Given the description of an element on the screen output the (x, y) to click on. 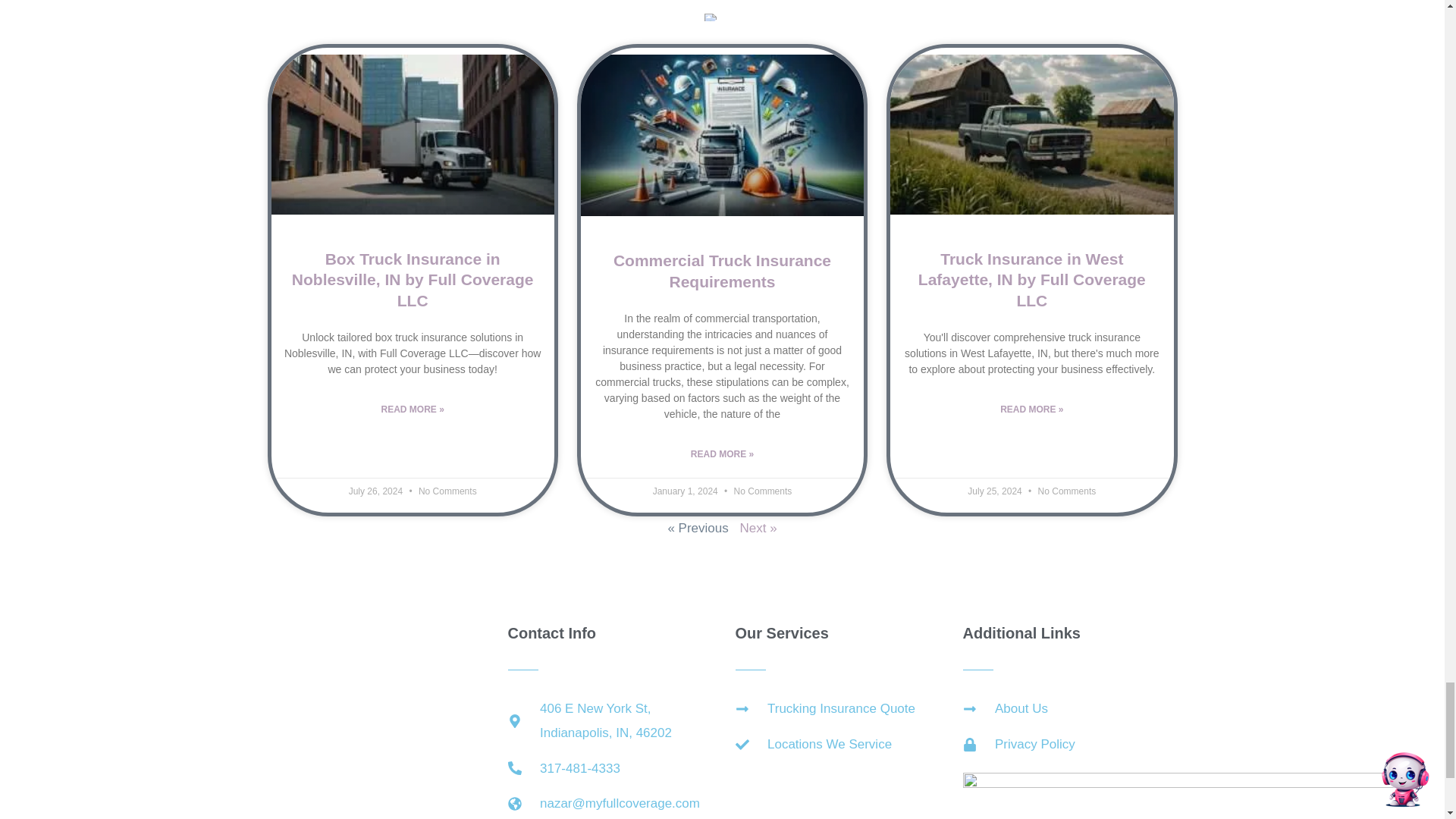
Box Truck Insurance in Noblesville, IN by Full Coverage LLC (413, 279)
Commercial Truck Insurance Requirements (721, 270)
Truck Insurance in West Lafayette, IN by Full Coverage LLC (1031, 279)
